Given the description of an element on the screen output the (x, y) to click on. 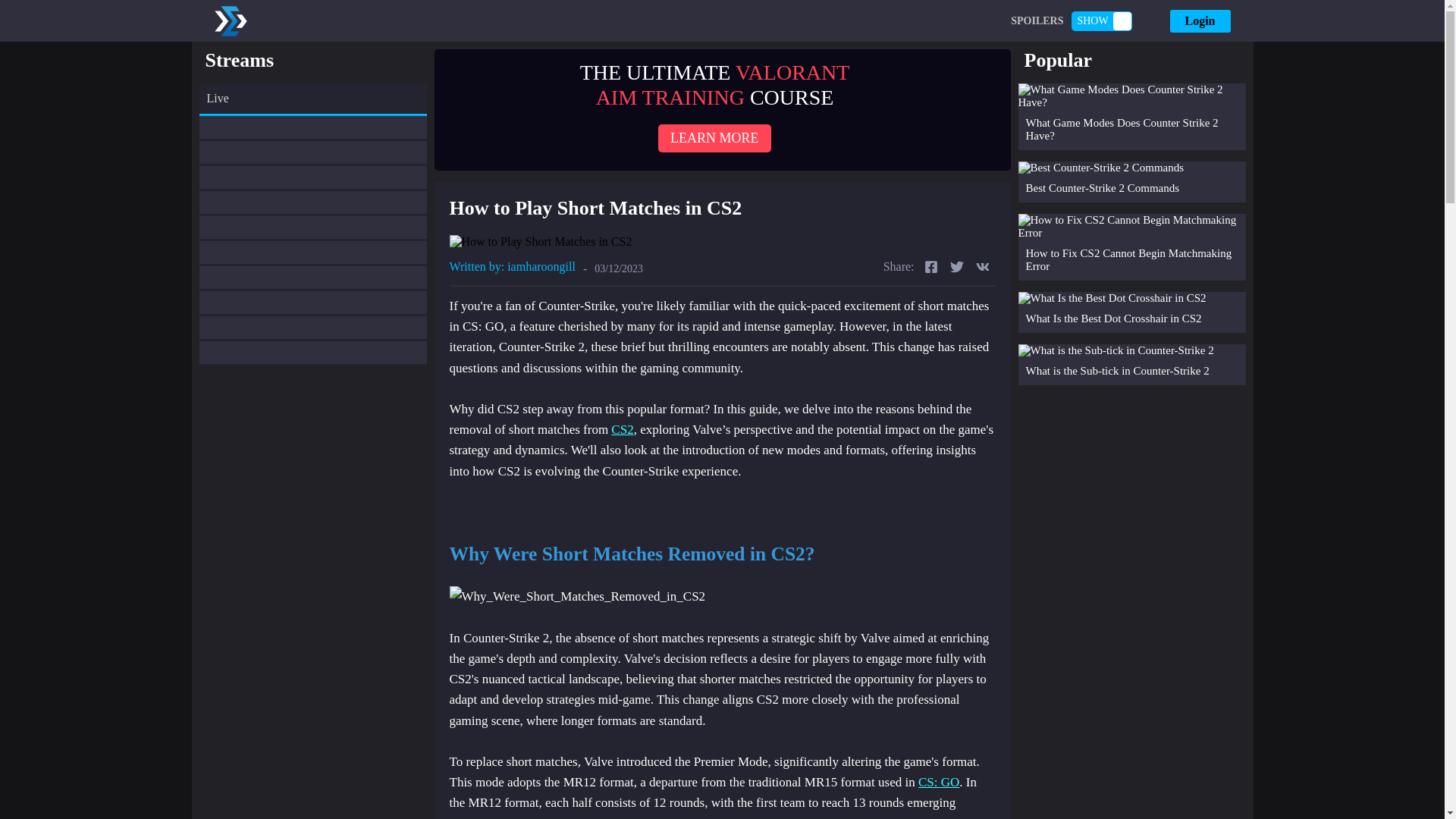
What Is the Best Dot Crosshair in CS2 (1130, 311)
Best Counter-Strike 2 Commands (1130, 181)
How to Fix CS2 Cannot Begin Matchmaking Error (1130, 246)
What Game Modes Does Counter Strike 2 Have? (1130, 116)
CS2 (622, 429)
CS: GO (938, 781)
What is the Sub-tick in Counter-Strike 2 (1130, 363)
